Given the description of an element on the screen output the (x, y) to click on. 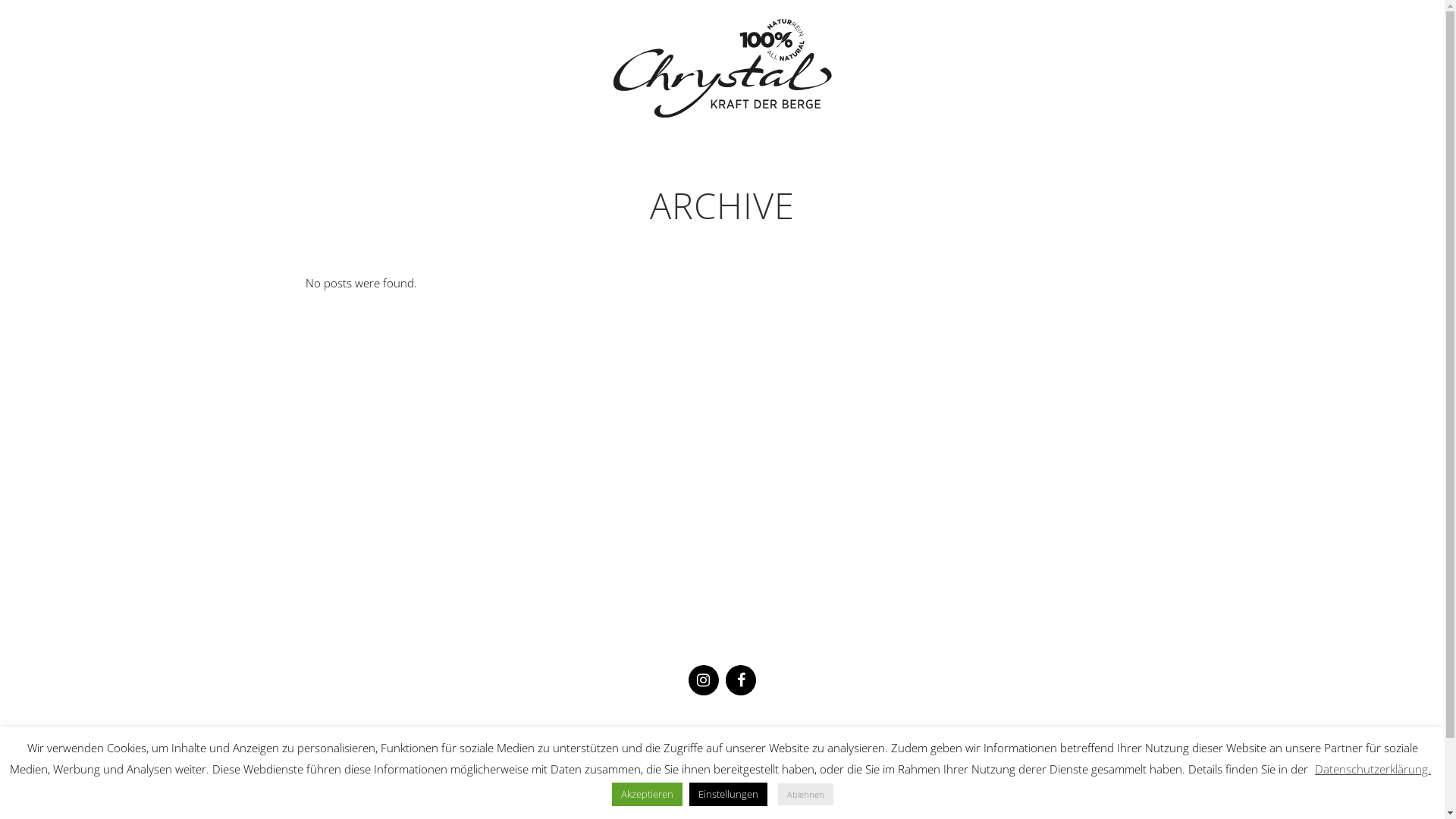
Senden Element type: text (789, 767)
Ablehnen Element type: text (805, 794)
Akzeptieren Element type: text (646, 794)
Einstellungen Element type: text (727, 794)
